Given the description of an element on the screen output the (x, y) to click on. 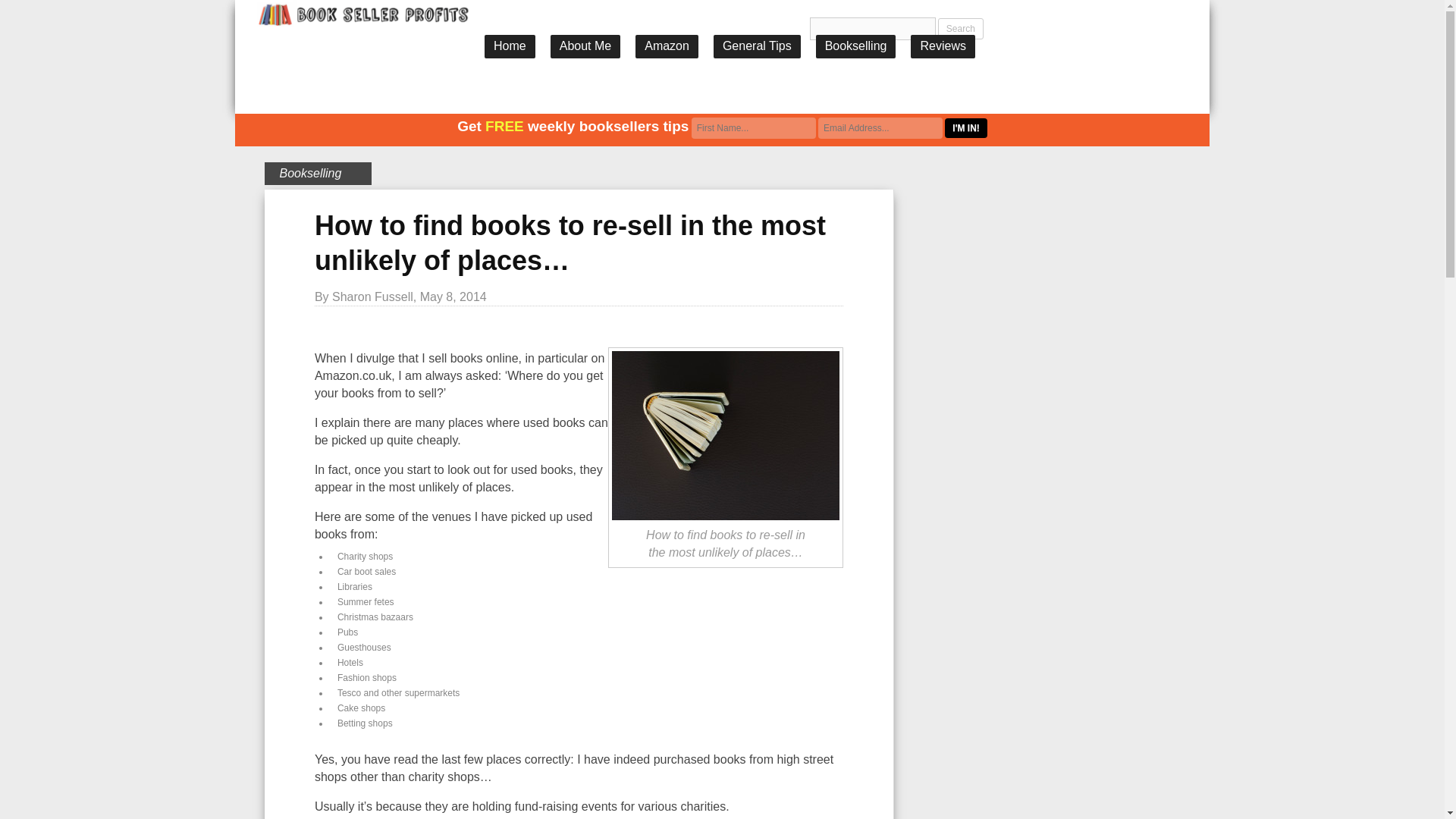
About Me (585, 45)
Search (960, 28)
Search (960, 28)
Amazon (666, 45)
Bookselling (855, 45)
Reviews (942, 45)
Home (509, 45)
General Tips (757, 45)
I'M IN! (965, 127)
I'M IN! (965, 127)
Bookselling (310, 173)
